Given the description of an element on the screen output the (x, y) to click on. 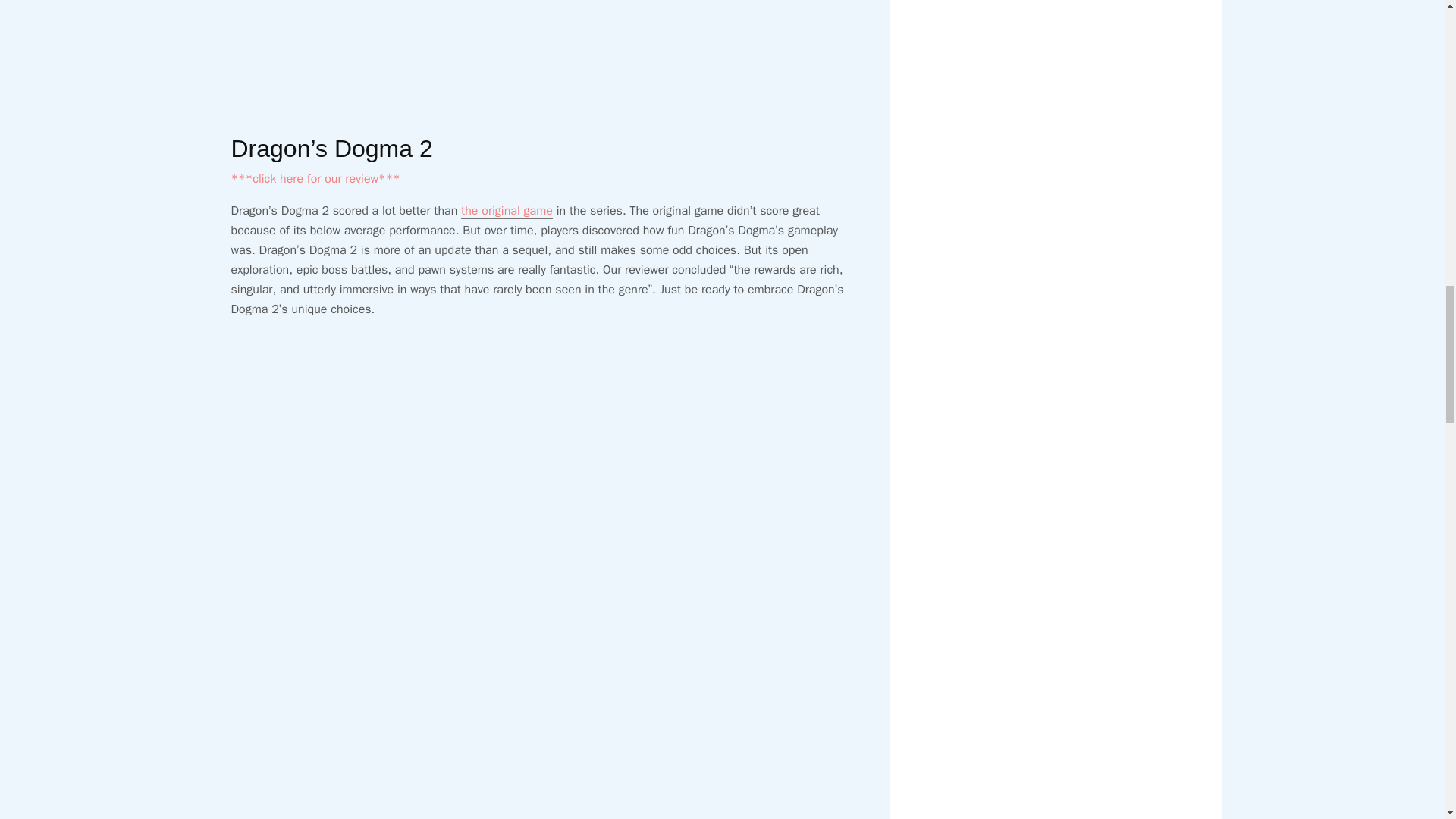
the original game (507, 211)
